Given the description of an element on the screen output the (x, y) to click on. 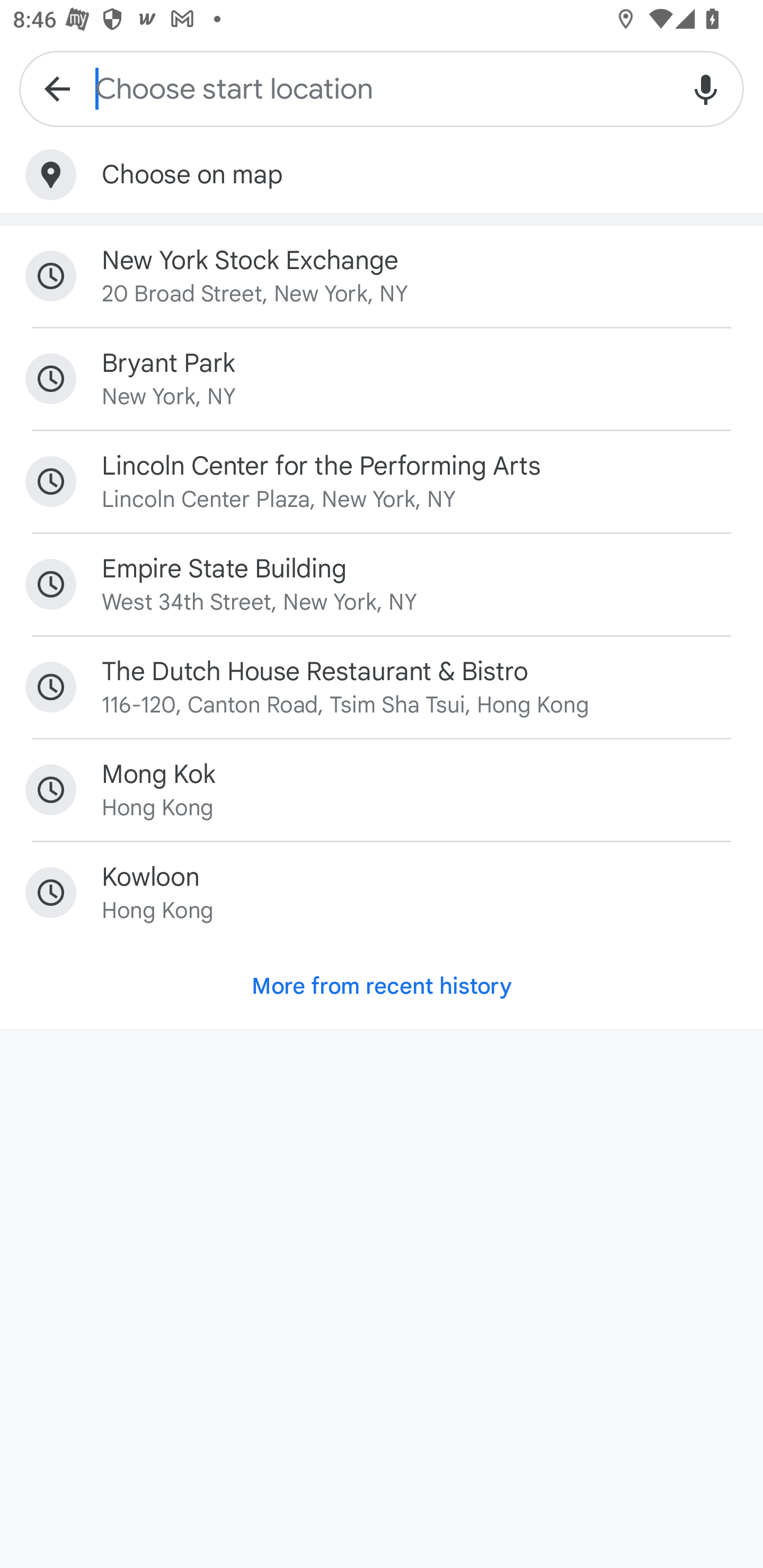
Navigate up (57, 88)
Choose start location (381, 88)
Voice search (705, 88)
Choose on map (381, 174)
Bryant Park New York, NY (381, 378)
Mong Kok Hong Kong (381, 790)
Kowloon Hong Kong (381, 892)
More from recent history (381, 985)
